Given the description of an element on the screen output the (x, y) to click on. 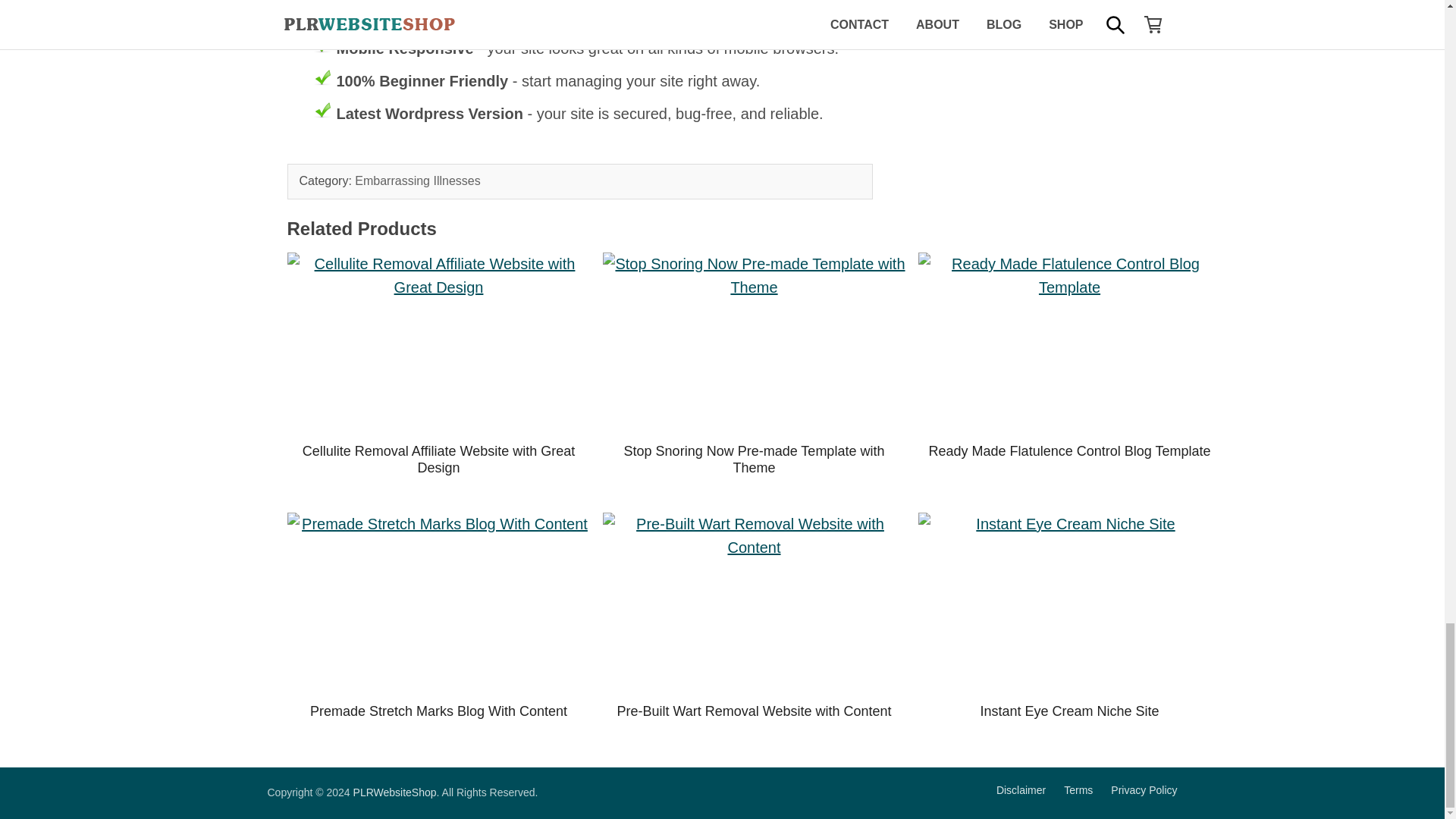
Embarrassing Illnesses (417, 180)
Premade Stretch Marks Blog With Content (438, 711)
Ready Made Flatulence Control Blog Template (1069, 343)
Premade Stretch Marks Blog With Content (437, 603)
Cellulite Removal Affiliate Website with Great Design (437, 343)
Pre-Built Wart Removal Website with Content (753, 603)
Instant Eye Cream Niche Site (1069, 603)
Stop Snoring Now Pre-made Template with Theme (753, 343)
Ready Made Flatulence Control Blog Template (1069, 450)
Cellulite Removal Affiliate Website with Great Design (438, 459)
